Given the description of an element on the screen output the (x, y) to click on. 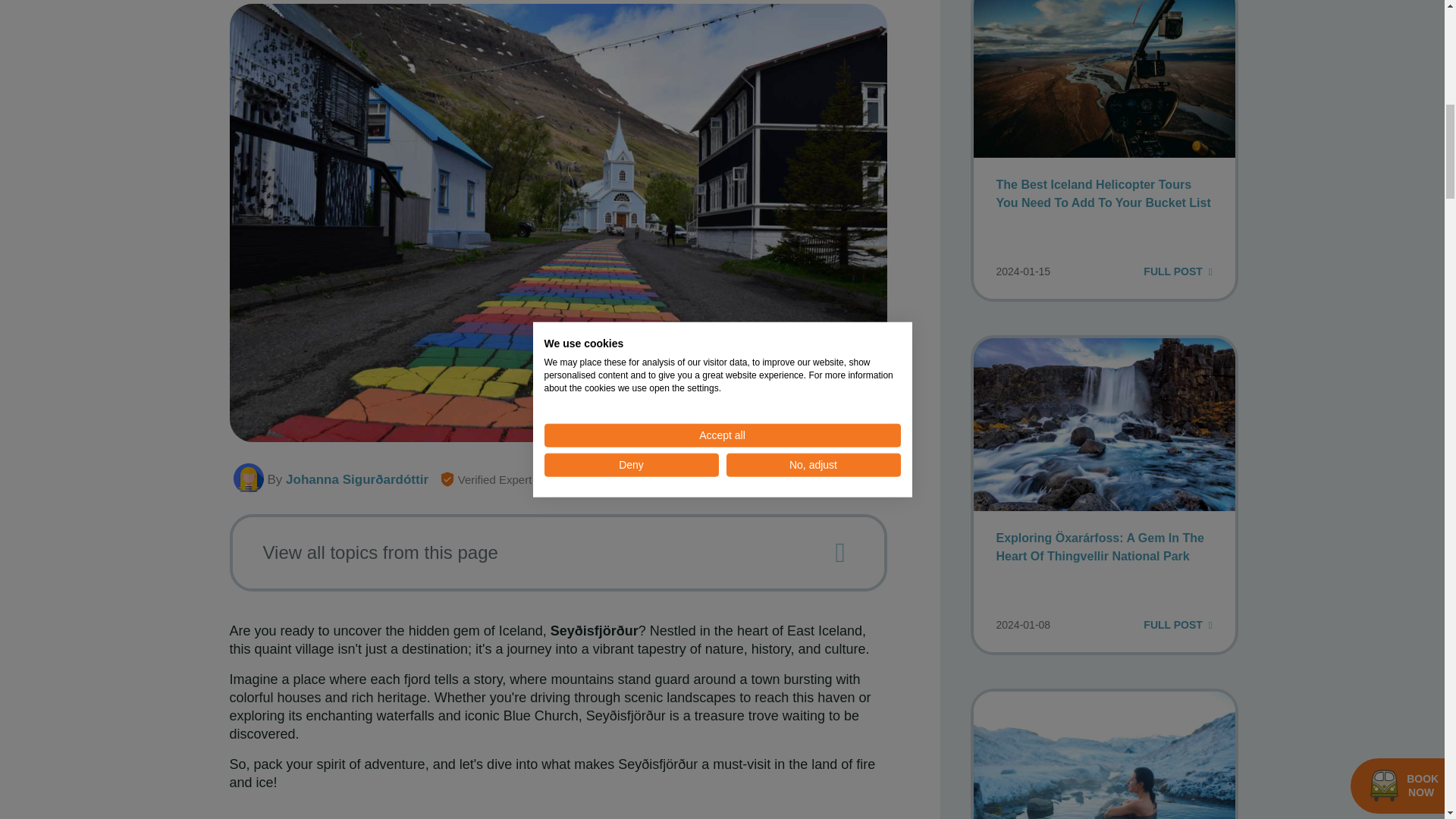
View all topics from this page (545, 552)
